Given the description of an element on the screen output the (x, y) to click on. 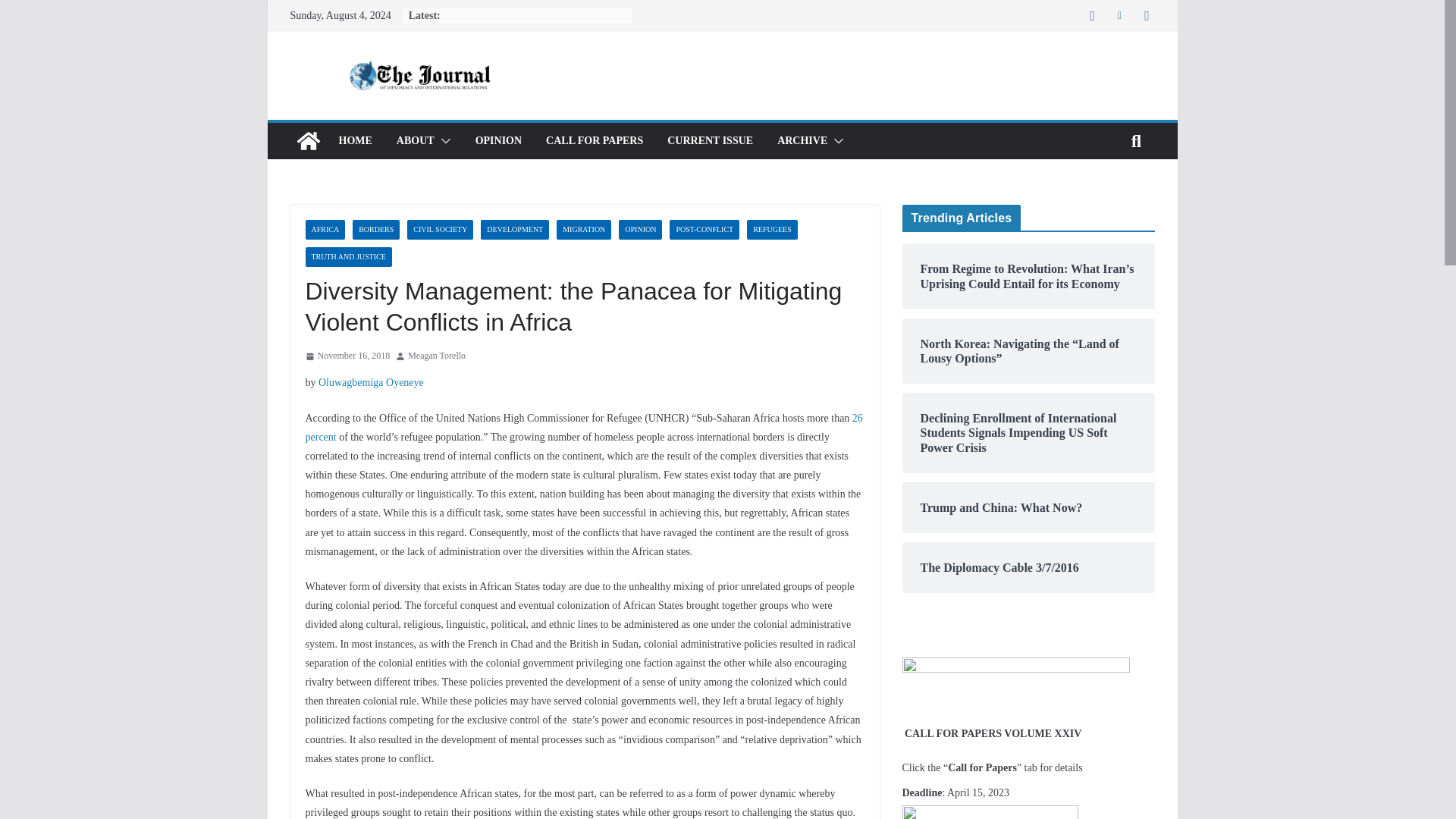
November 16, 2018 (347, 356)
CURRENT ISSUE (709, 140)
Oluwagbemiga Oyeneye  (372, 382)
The Journal of Diplomacy and International Relations (307, 140)
ARCHIVE (802, 140)
DEVELOPMENT (514, 229)
Meagan Torello (436, 356)
12:24 pm (347, 356)
ABOUT (414, 140)
REFUGEES (771, 229)
